Given the description of an element on the screen output the (x, y) to click on. 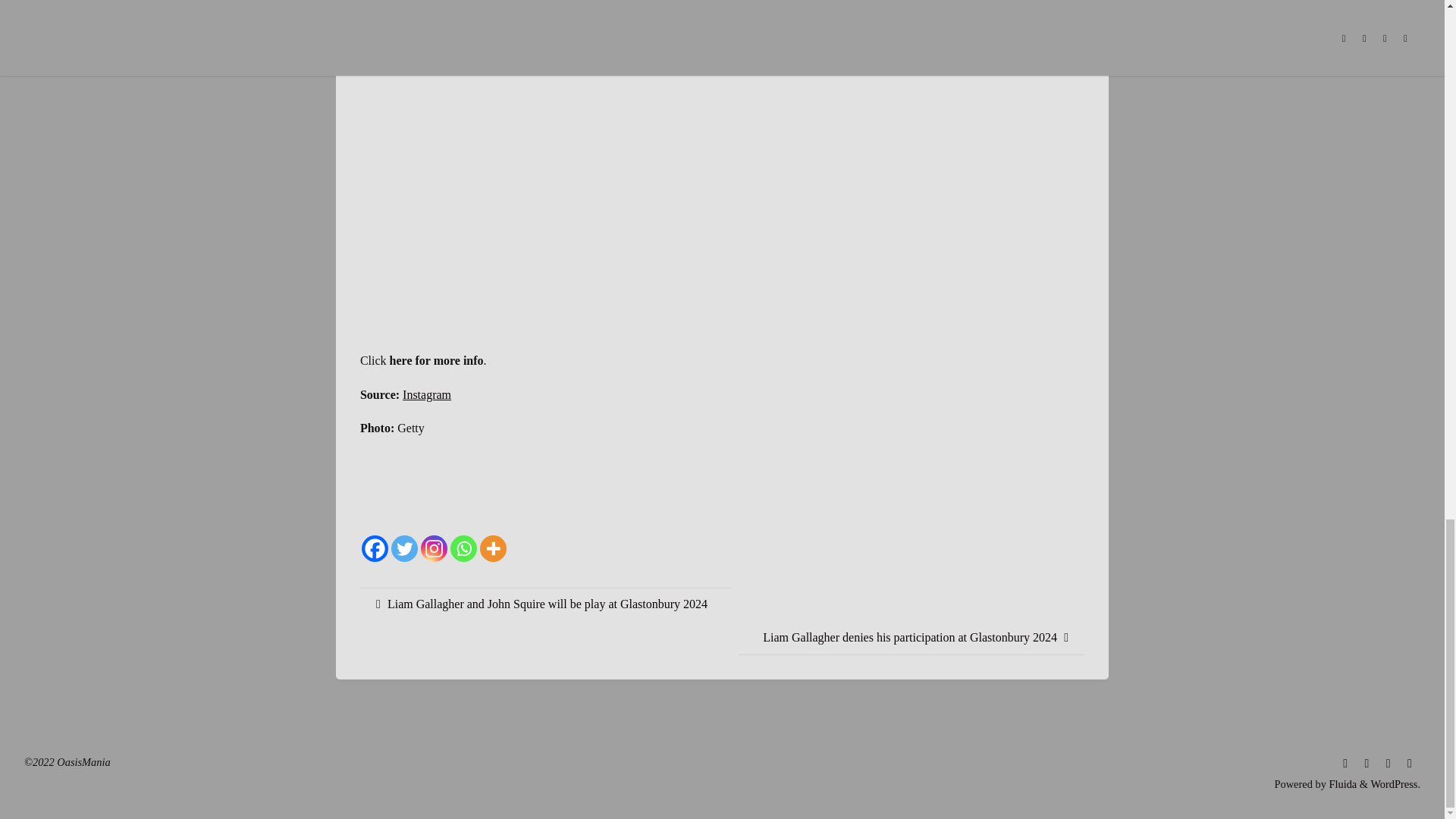
Instagram (427, 394)
Liam Gallagher denies his participation at Glastonbury 2024 (911, 637)
